Given the description of an element on the screen output the (x, y) to click on. 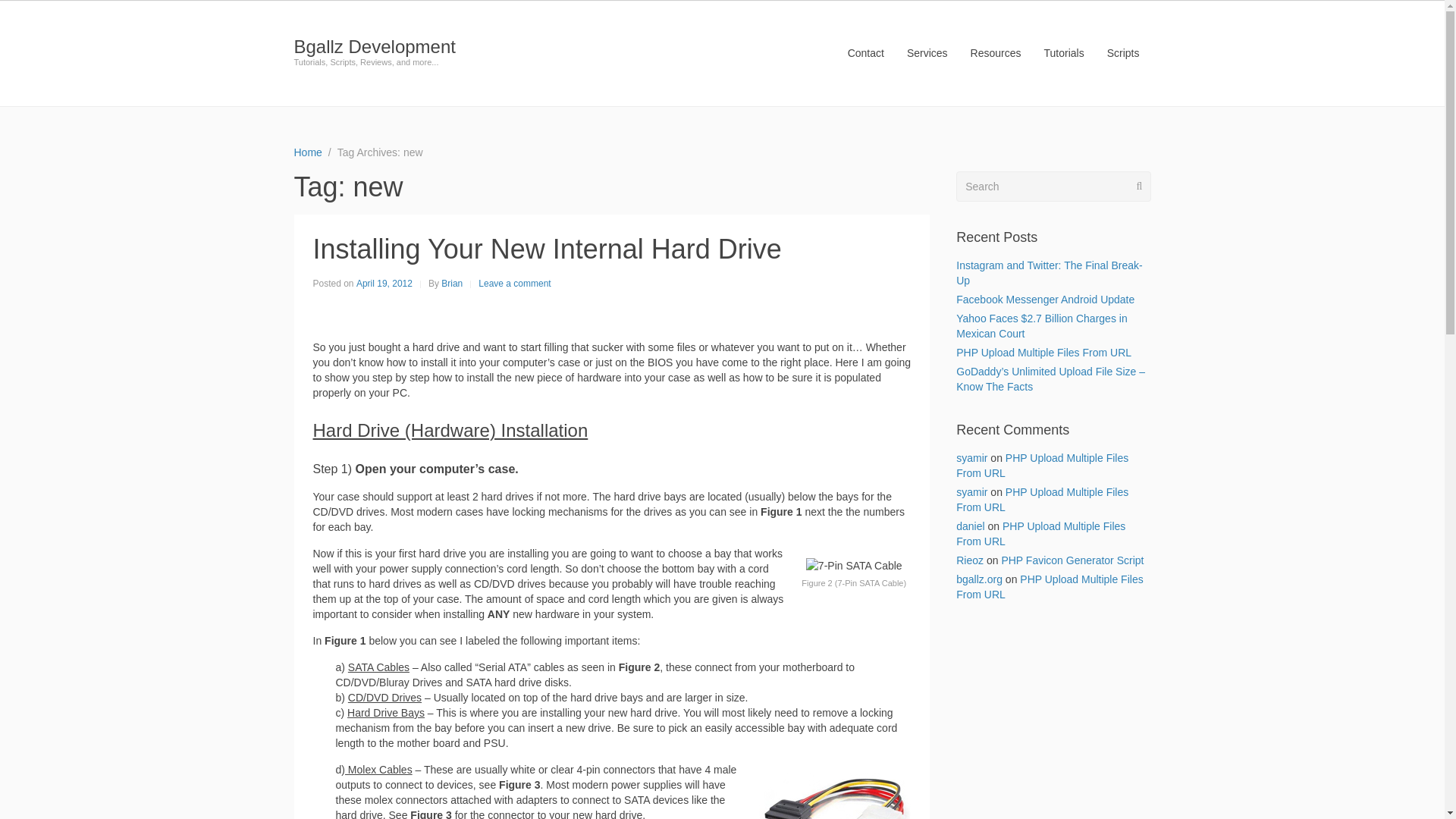
4-pin-molex-sata (834, 796)
daniel (970, 526)
Instagram and Twitter: The Final Break-Up (1048, 272)
Contact Brian (865, 52)
PHP Upload Multiple Files From URL (1042, 465)
Brian (452, 283)
Tutorials (1064, 52)
PHP Upload Multiple Files From URL (1042, 499)
syamir (971, 458)
Leave a comment (514, 283)
Installing Your New Internal Hard Drive (546, 248)
Bgallz Development (374, 46)
Scripts (1123, 52)
syamir (971, 491)
Resources (995, 52)
